Given the description of an element on the screen output the (x, y) to click on. 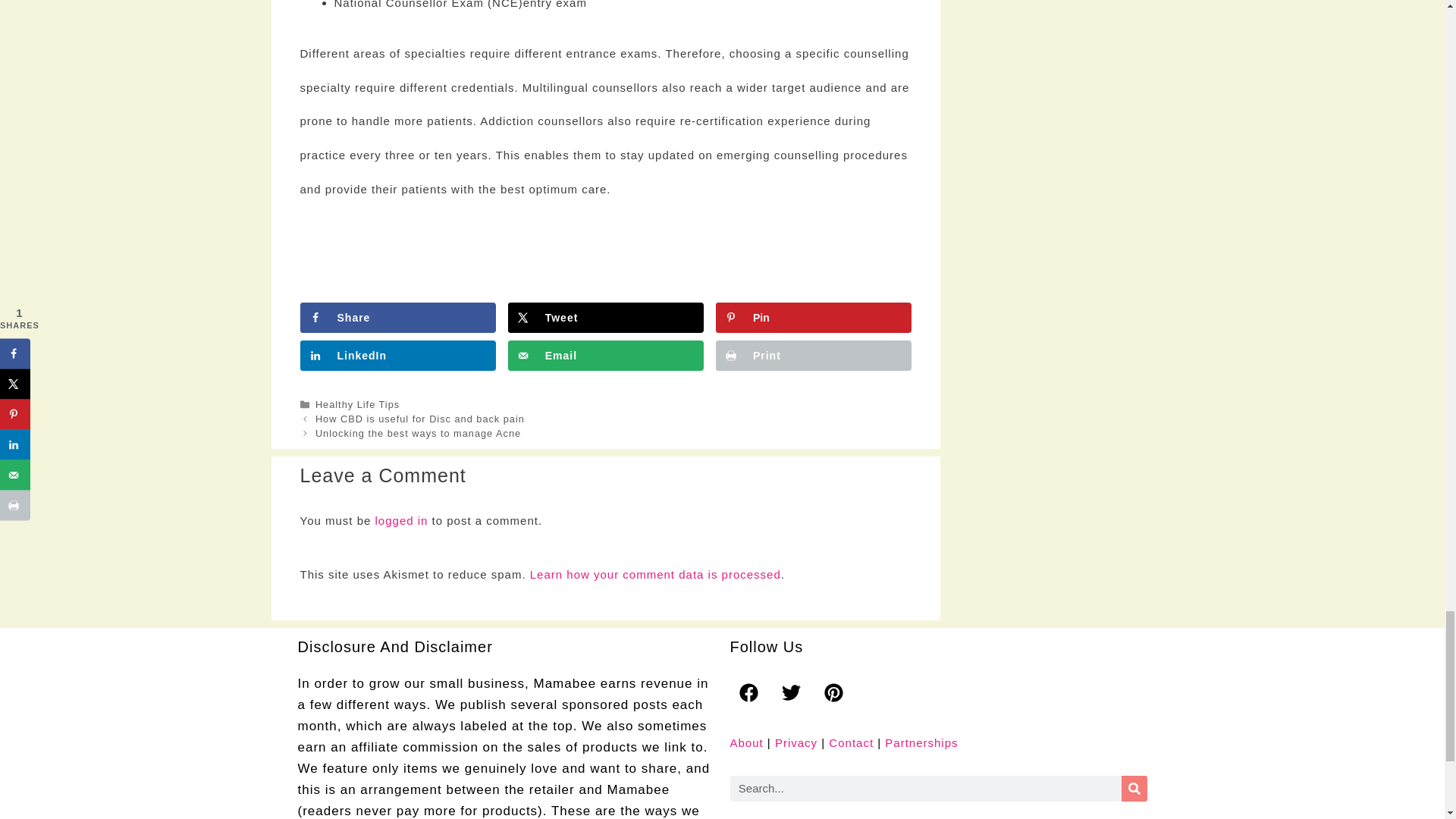
Share on X (605, 317)
Print this webpage (813, 355)
Send over email (605, 355)
Share on Facebook (397, 317)
Share on LinkedIn (397, 355)
Save to Pinterest (813, 317)
